Given the description of an element on the screen output the (x, y) to click on. 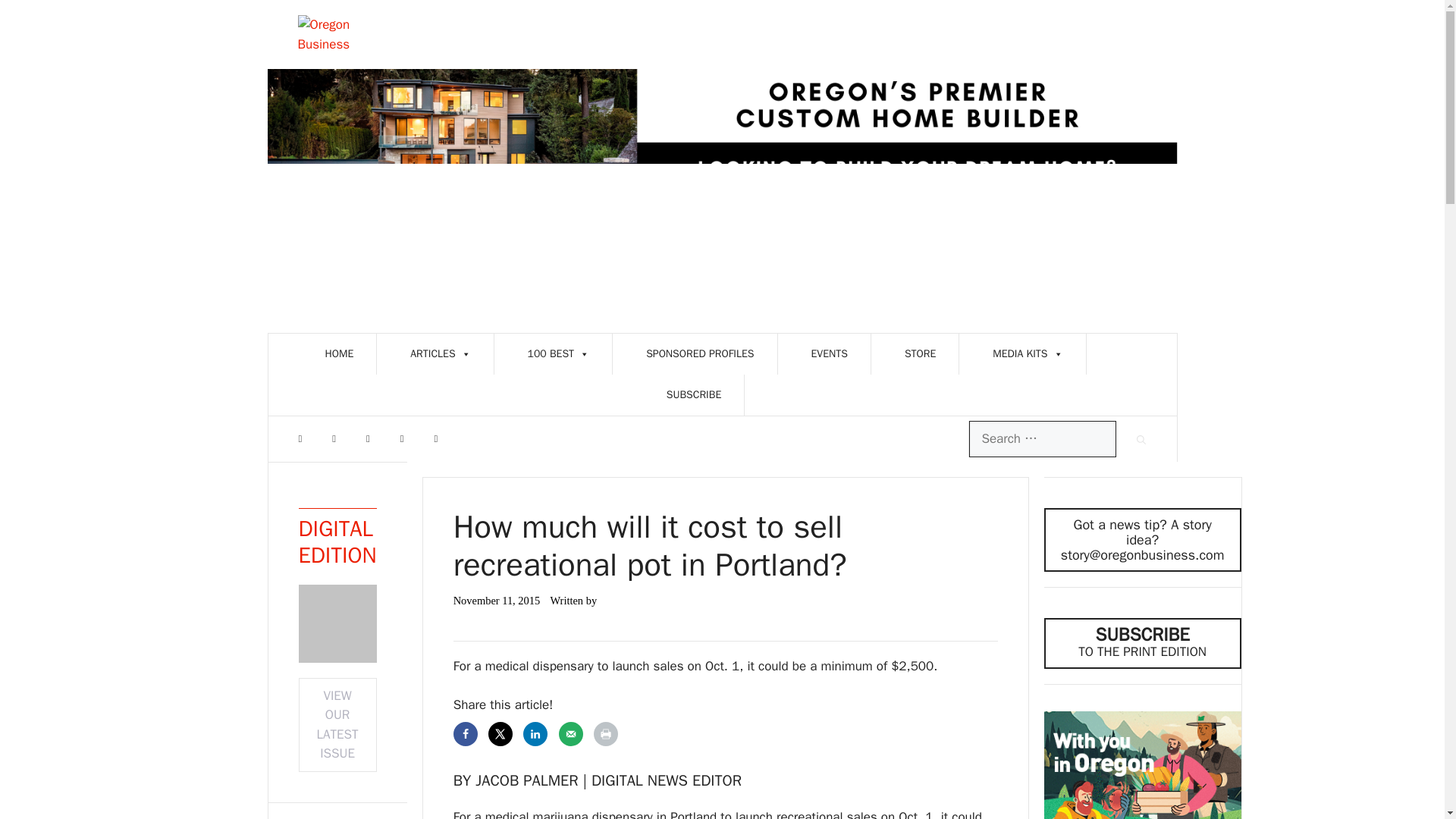
HOME (350, 353)
100 BEST (569, 353)
ARTICLES (451, 353)
Search for: (1042, 438)
Share on Facebook (464, 733)
Share on X (499, 733)
Send over email (571, 733)
Print this webpage (605, 733)
Share on LinkedIn (534, 733)
